Given the description of an element on the screen output the (x, y) to click on. 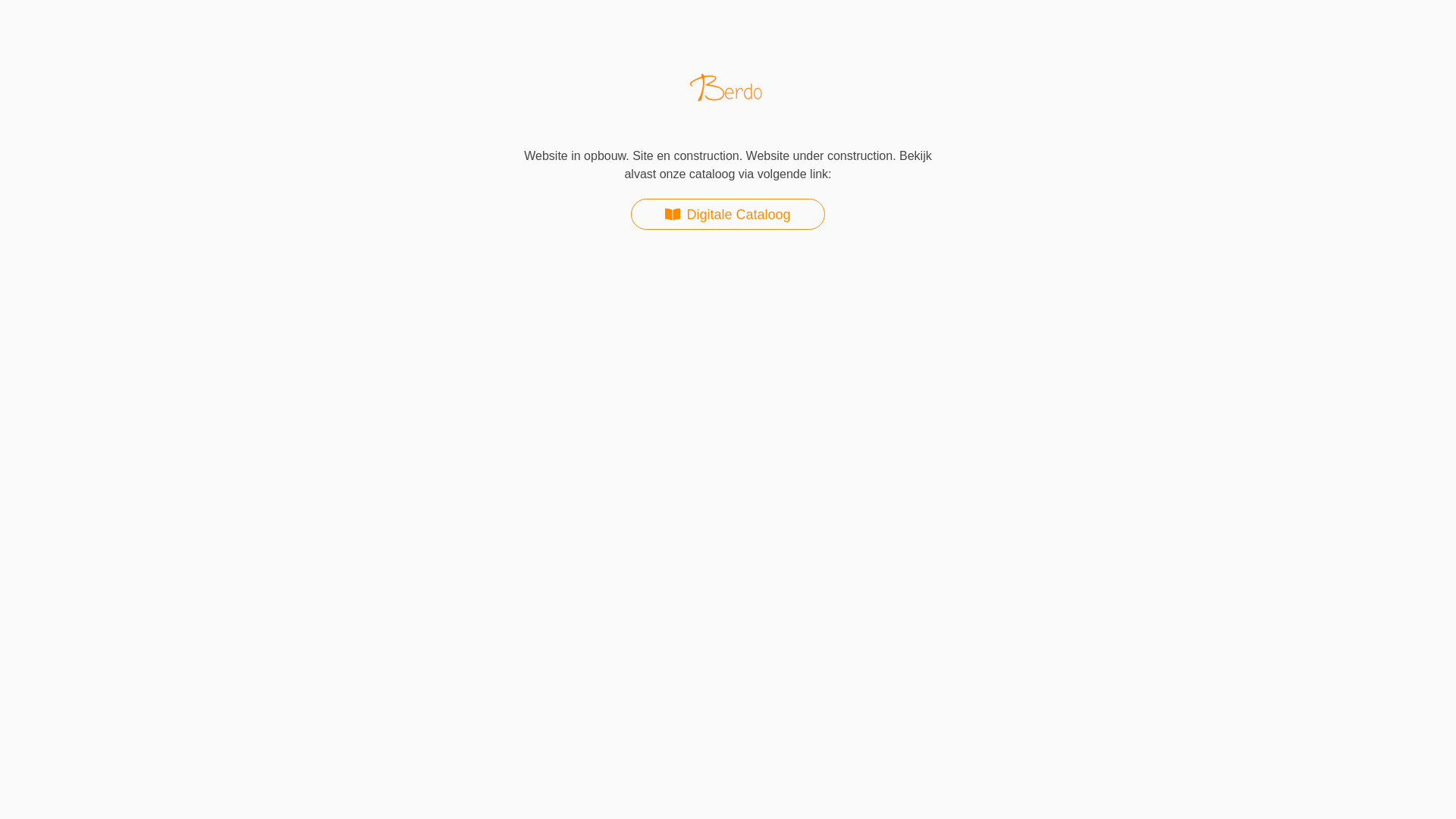
Digitale Cataloog Element type: text (727, 213)
